Given the description of an element on the screen output the (x, y) to click on. 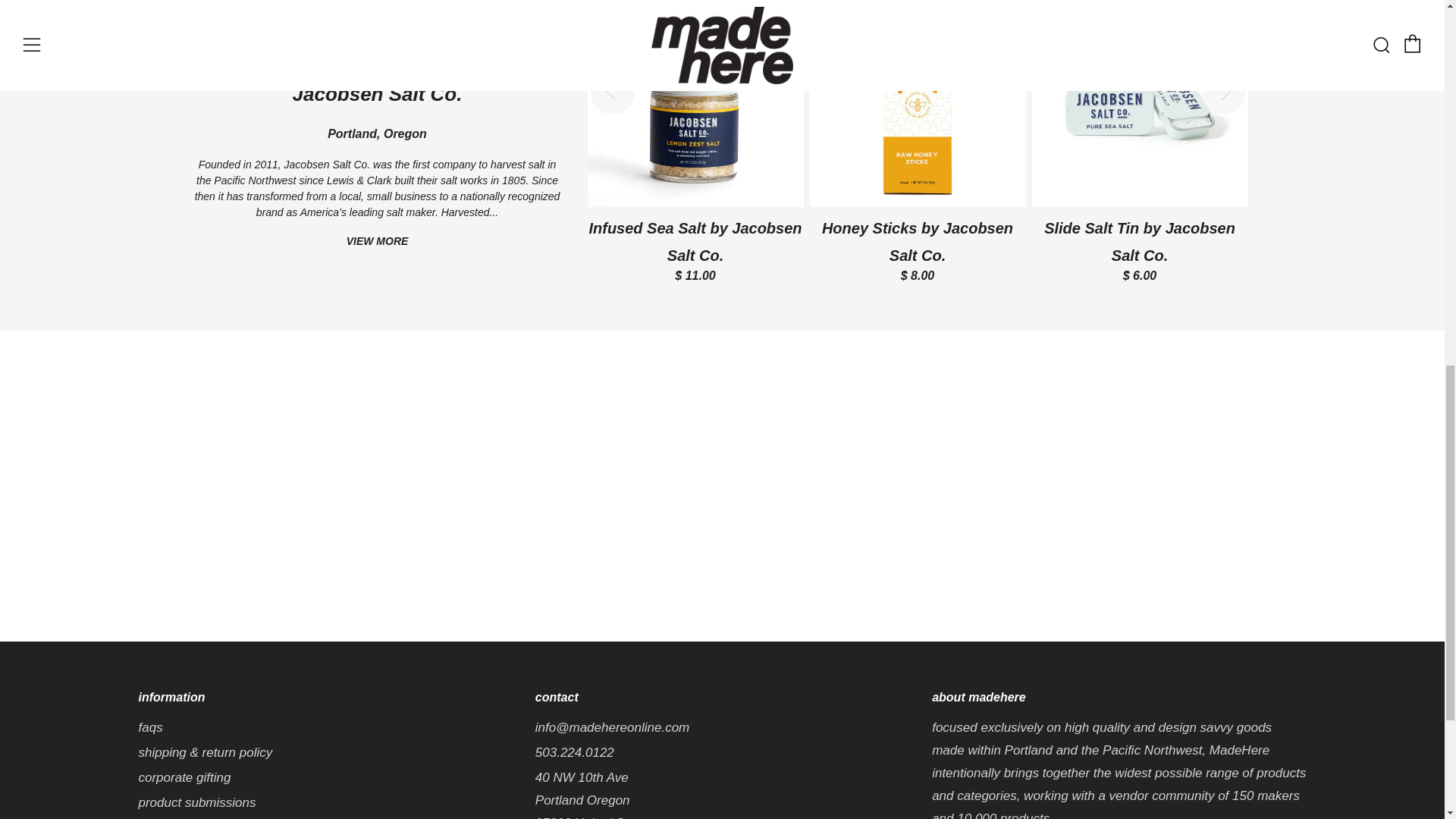
Infused Sea Salt by Jacobsen Salt Co. (699, 142)
Slide Salt Tin by Jacobsen Salt Co. (1144, 142)
Salty Caramels by Jacobsen (478, 129)
Jacobsen Salt Co. (377, 93)
Jacobsen Salt Co. (377, 241)
Honey Sticks by Jacobsen Salt Co. (922, 142)
